Given the description of an element on the screen output the (x, y) to click on. 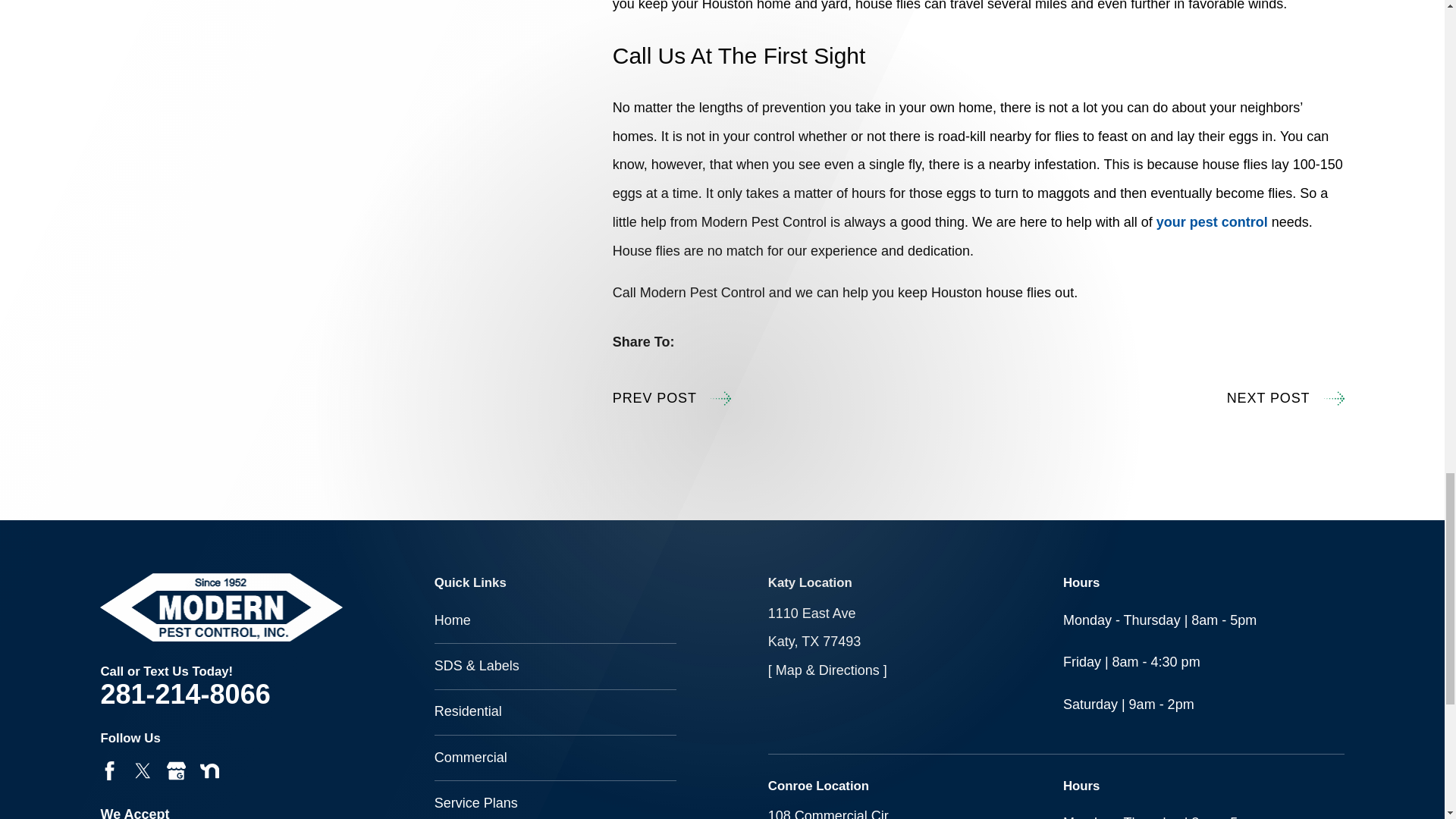
Nextdoor (209, 770)
Home (221, 606)
Facebook (109, 770)
Twitter (142, 770)
Google Business Profile (176, 770)
